Given the description of an element on the screen output the (x, y) to click on. 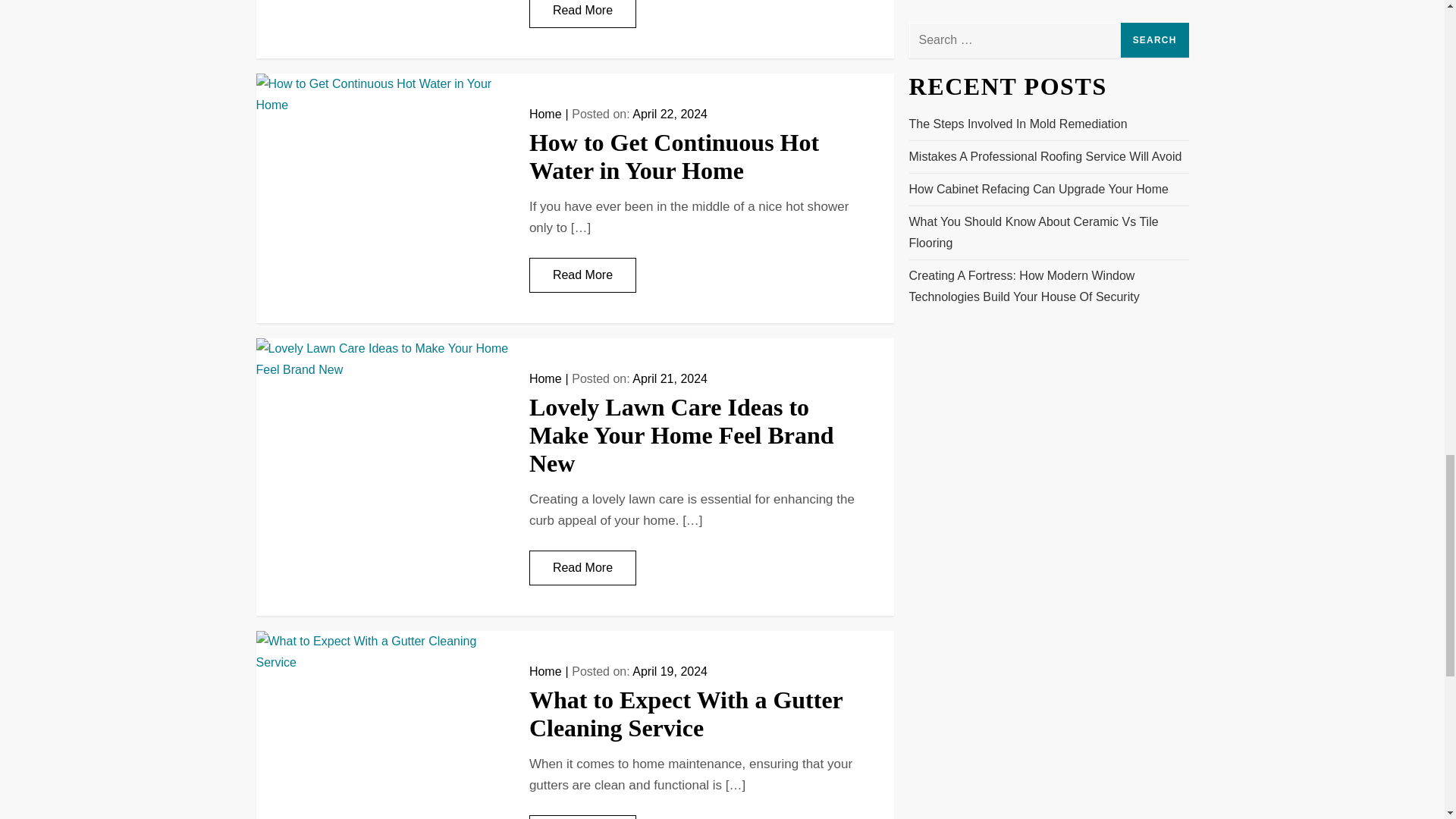
Read More (582, 13)
Home (545, 113)
